Given the description of an element on the screen output the (x, y) to click on. 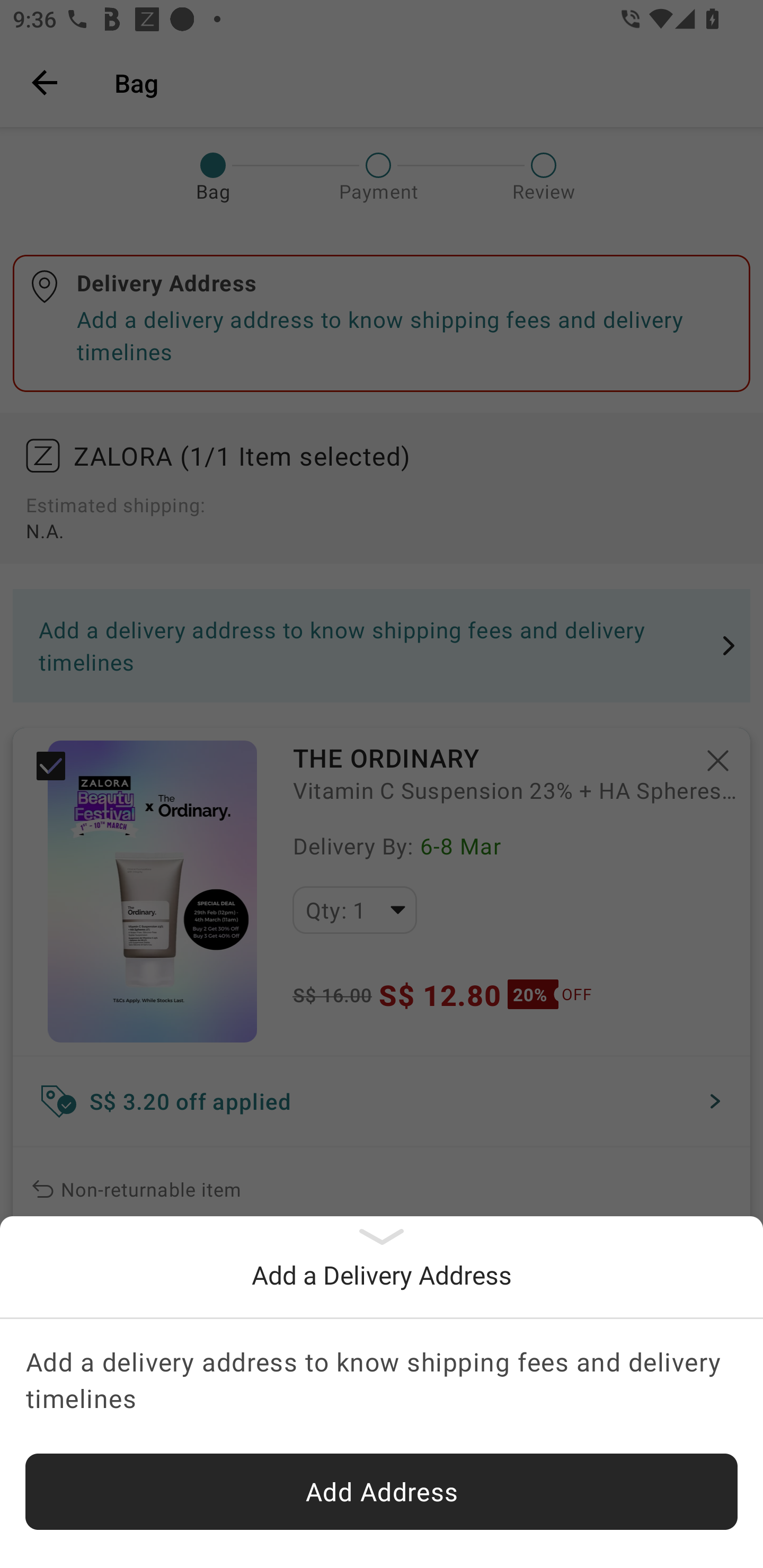
Add Address (381, 1491)
